Given the description of an element on the screen output the (x, y) to click on. 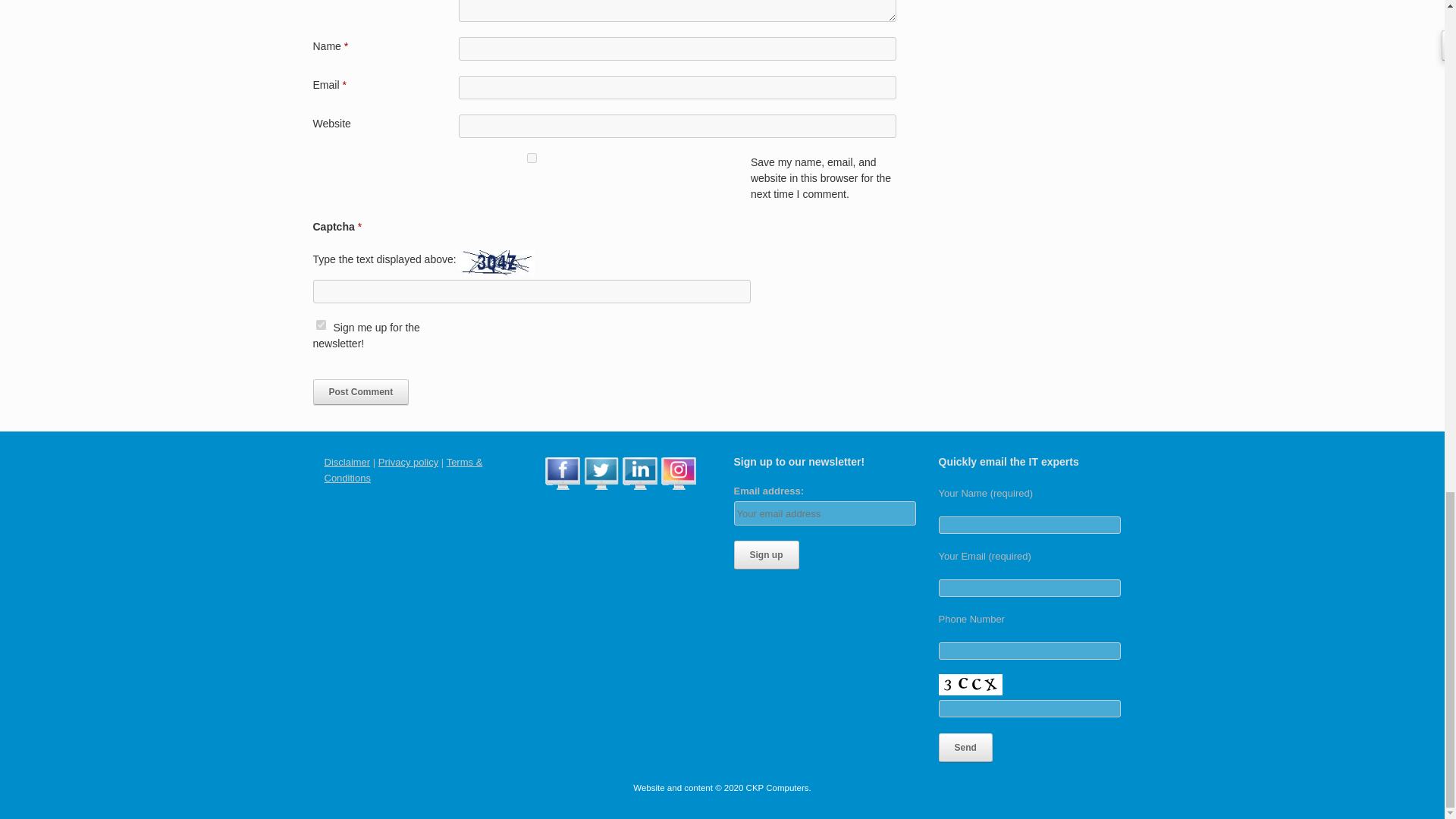
Sign up (766, 554)
Privacy policy (408, 461)
Post Comment (361, 391)
Post Comment (361, 391)
Visit Us On Twitter (600, 488)
Sign up (766, 554)
Visit Us On Facebook (561, 488)
Send (965, 747)
Disclaimer (347, 461)
1 (321, 325)
